Given the description of an element on the screen output the (x, y) to click on. 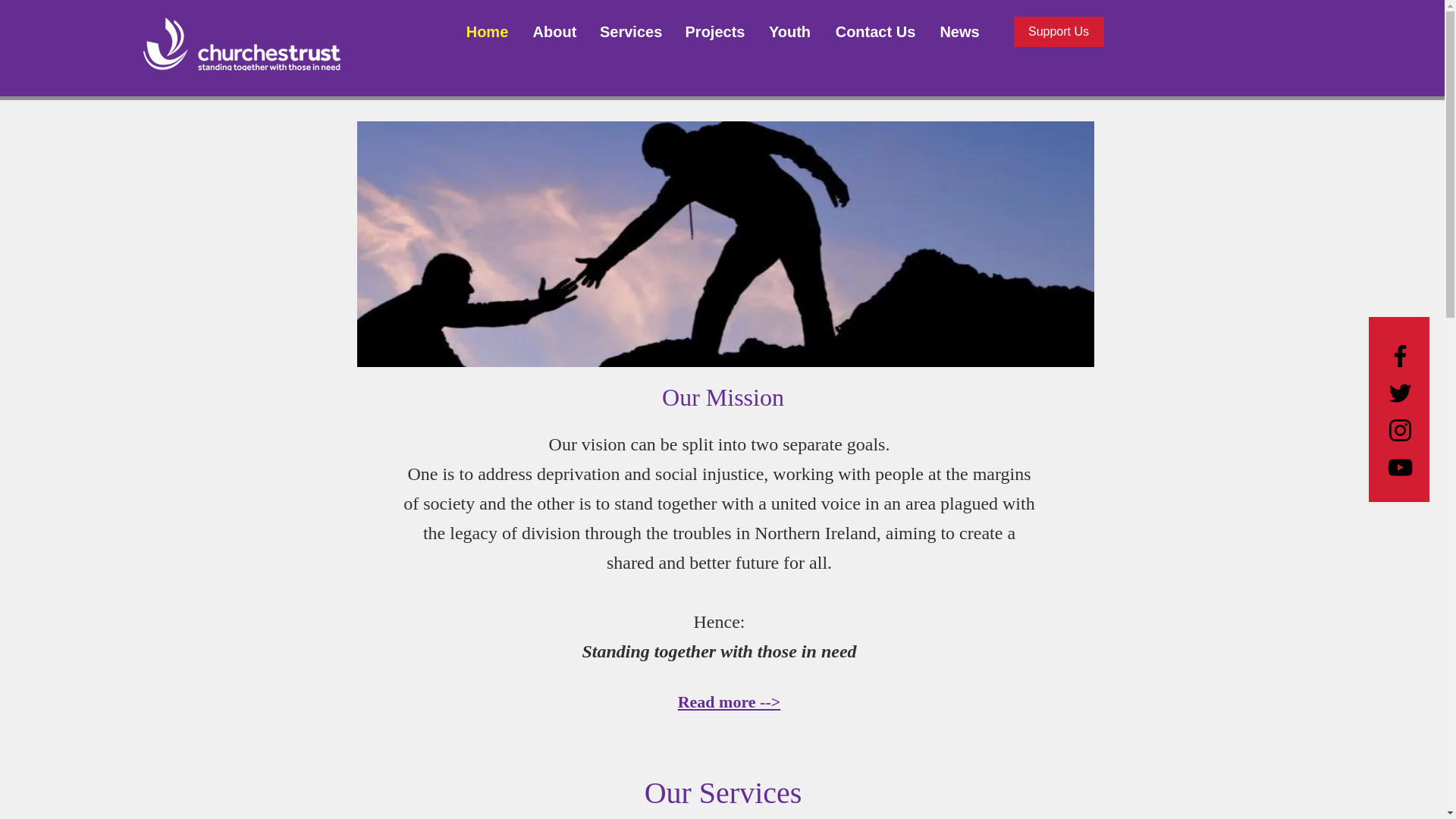
Contact Us (875, 32)
About (554, 32)
Support Us (1058, 31)
Home (486, 32)
Projects (714, 32)
Youth (789, 32)
News (959, 32)
Services (630, 32)
